Given the description of an element on the screen output the (x, y) to click on. 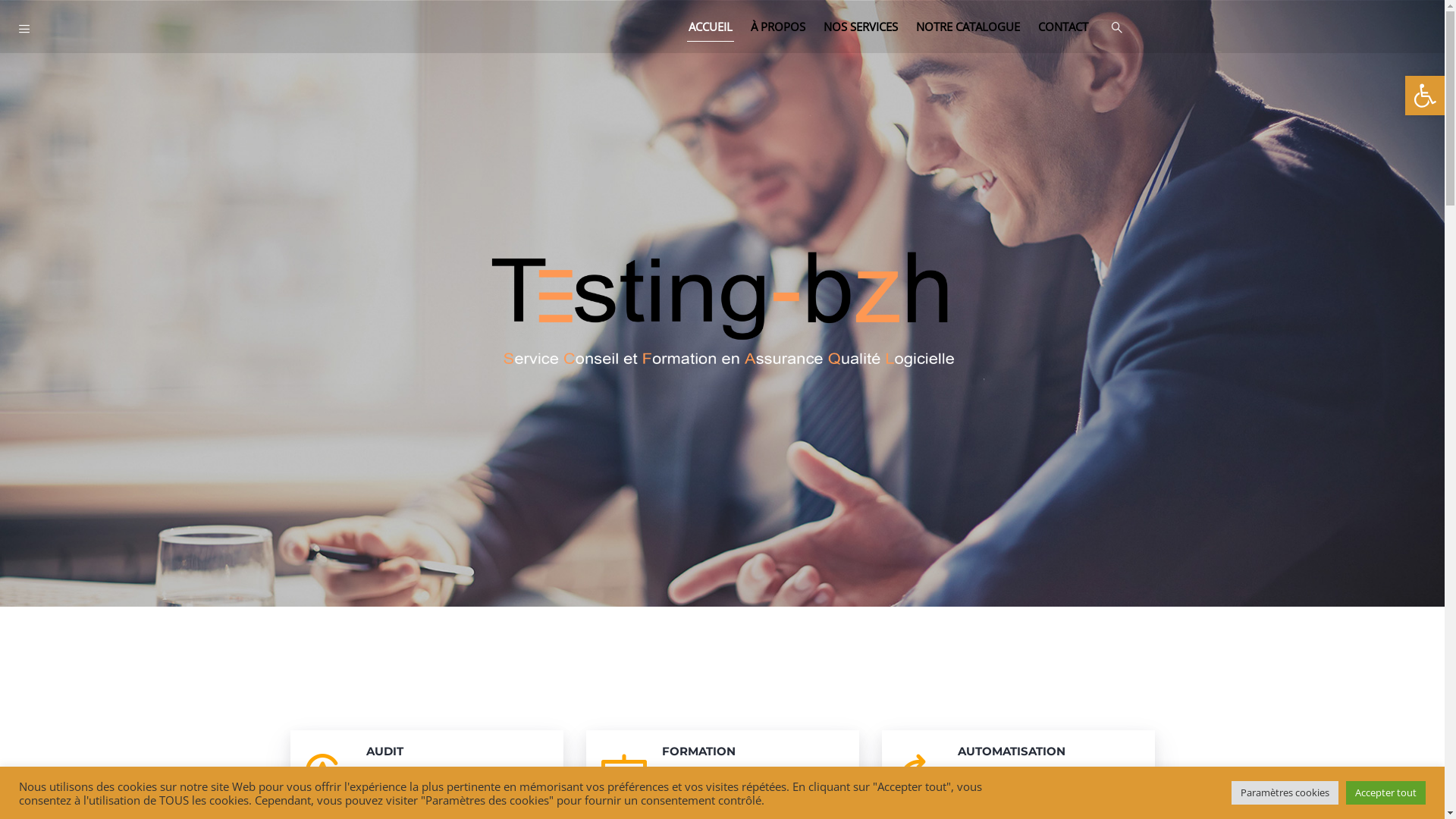
NOS SERVICES Element type: text (860, 26)
FORMATION Element type: text (752, 751)
Accepter tout Element type: text (1385, 792)
NOTRE CATALOGUE Element type: text (967, 26)
CONTACT Element type: text (1063, 26)
AUTOMATISATION Element type: text (1048, 751)
ACCUEIL Element type: text (710, 26)
AUDIT Element type: text (456, 751)
